Given the description of an element on the screen output the (x, y) to click on. 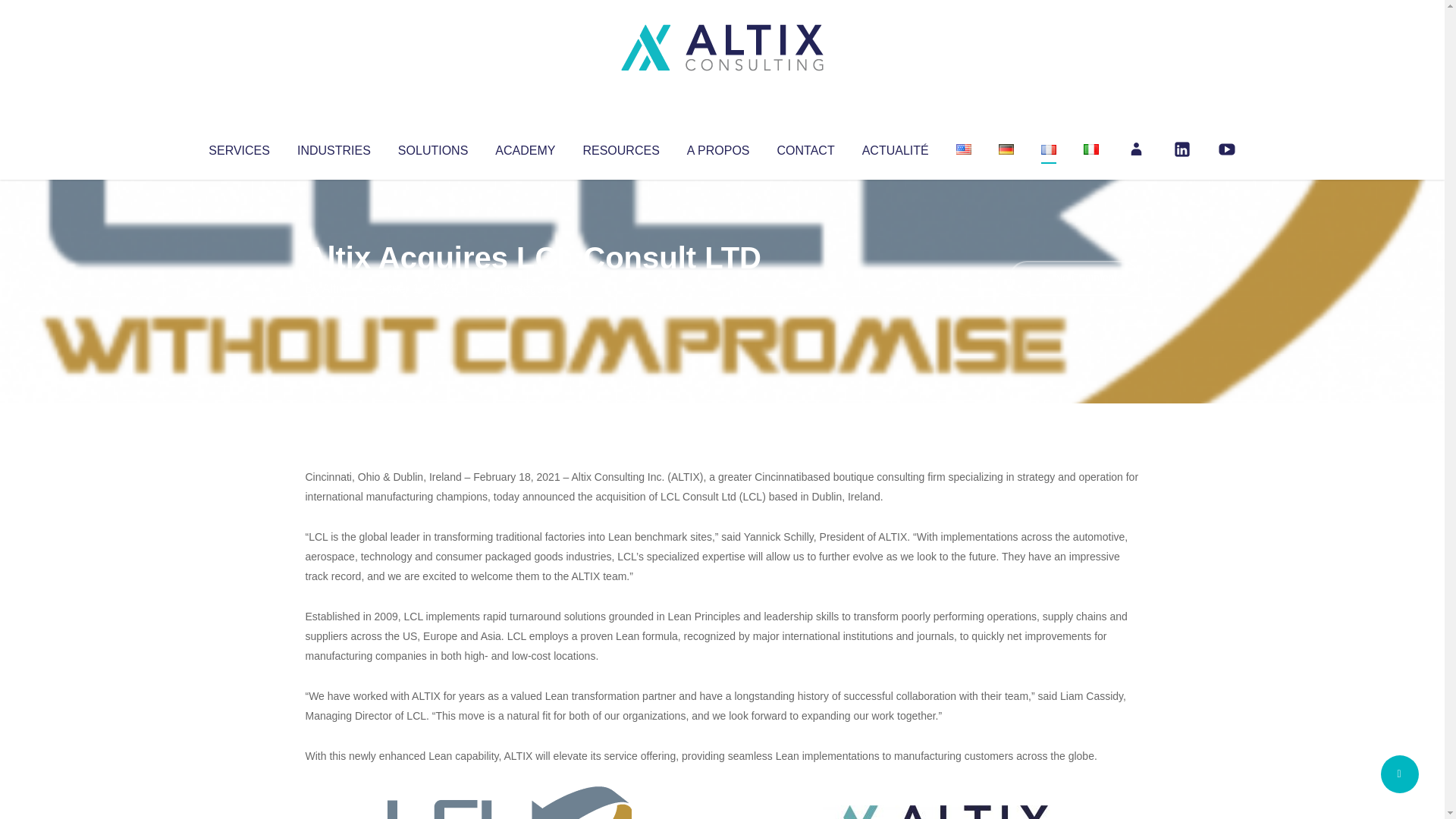
Uncategorized (530, 287)
RESOURCES (620, 146)
SERVICES (238, 146)
A PROPOS (718, 146)
Altix (333, 287)
No Comments (1073, 278)
SOLUTIONS (432, 146)
Articles par Altix (333, 287)
ACADEMY (524, 146)
INDUSTRIES (334, 146)
